Given the description of an element on the screen output the (x, y) to click on. 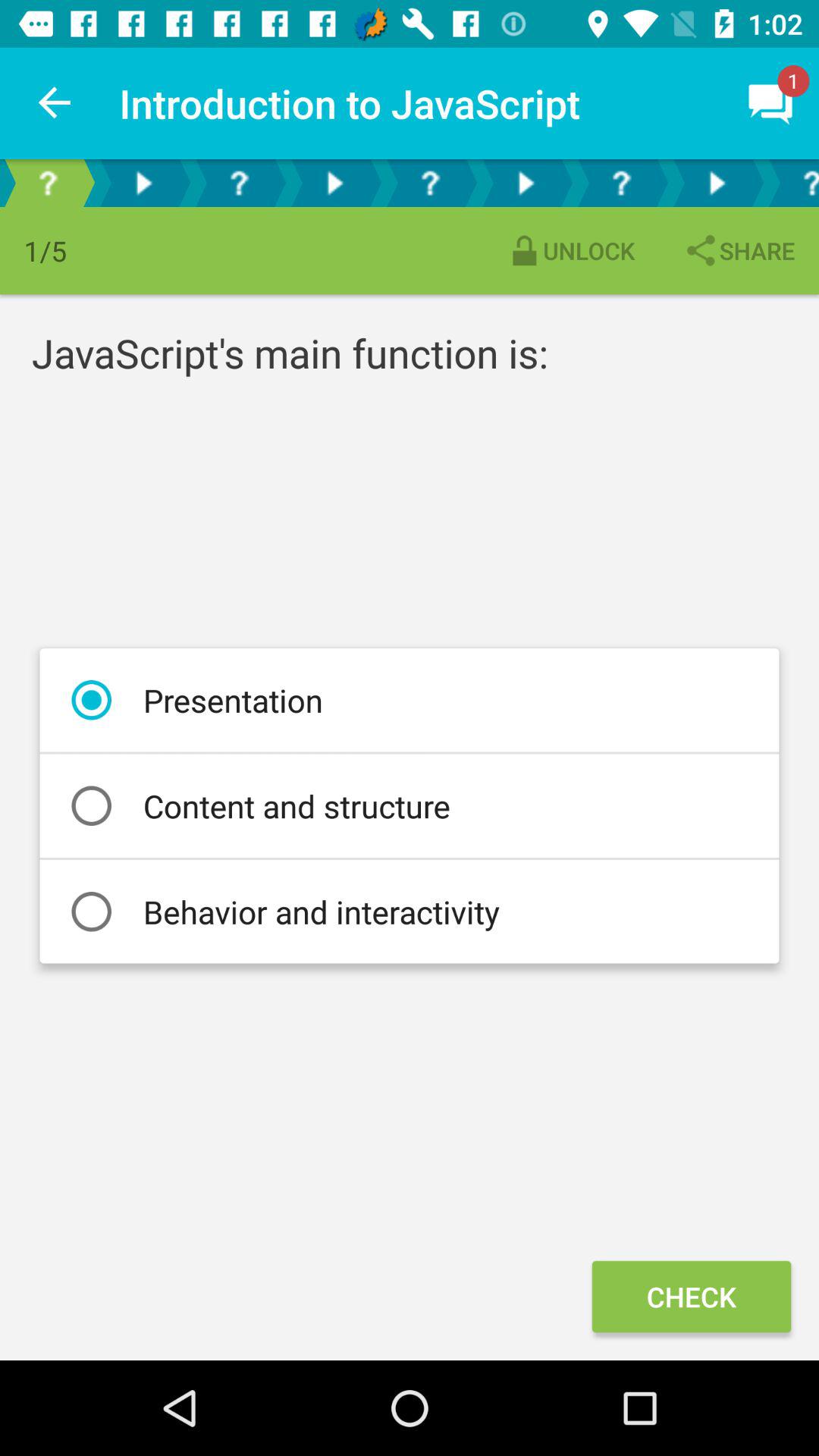
choose check (691, 1296)
